Given the description of an element on the screen output the (x, y) to click on. 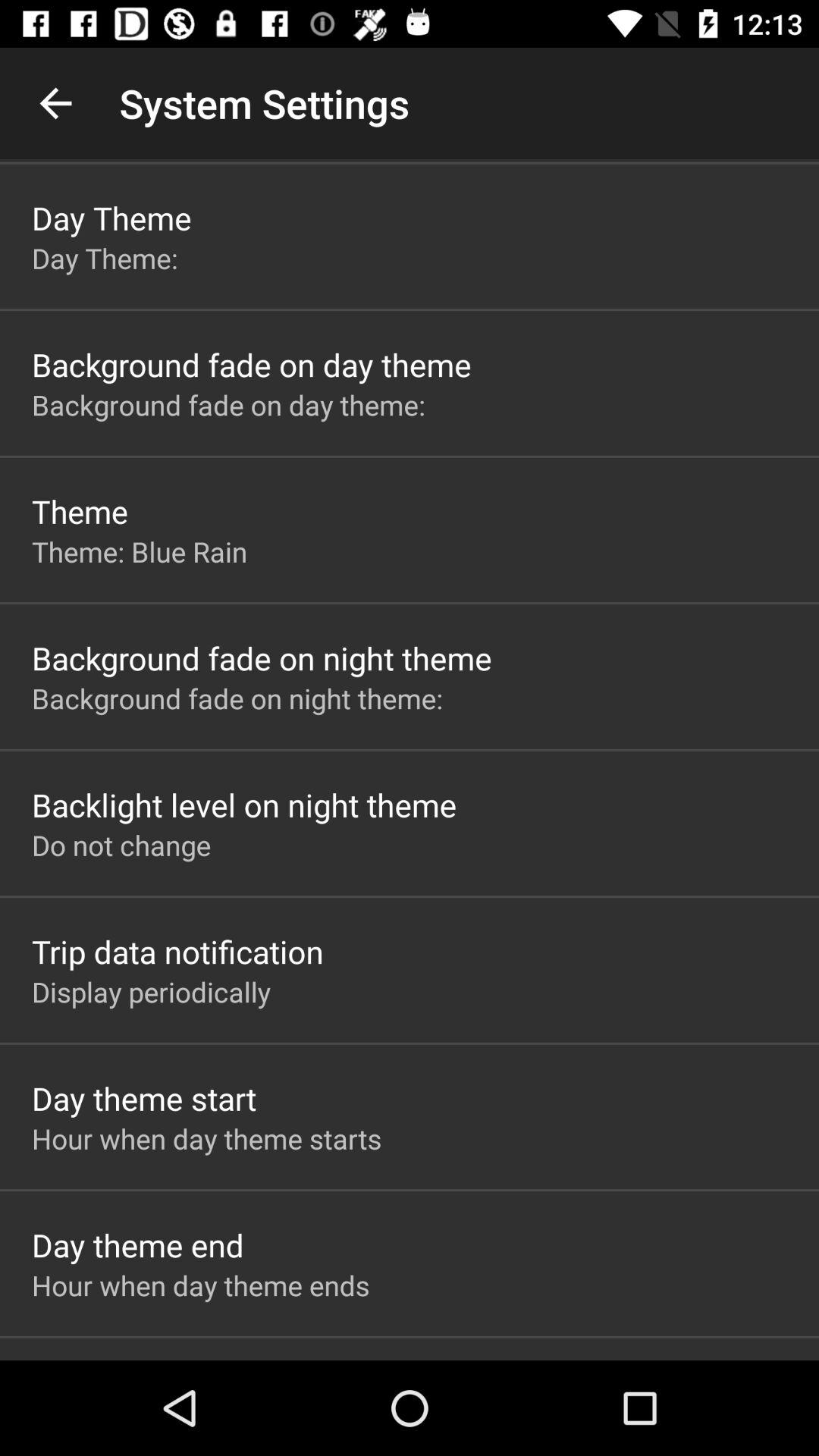
flip to trip data notification item (177, 951)
